Given the description of an element on the screen output the (x, y) to click on. 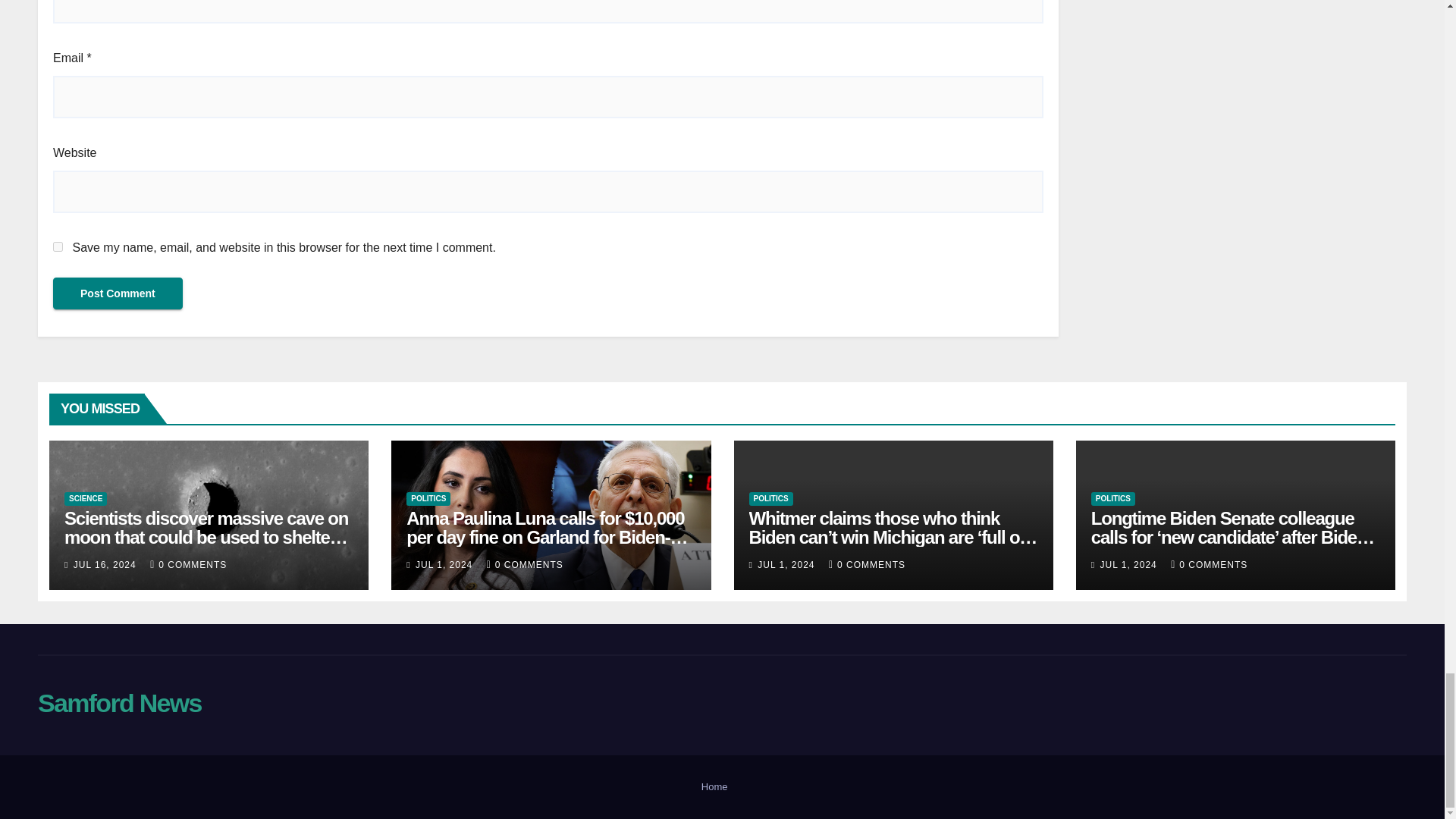
Post Comment (117, 293)
yes (57, 246)
Post Comment (117, 293)
